Given the description of an element on the screen output the (x, y) to click on. 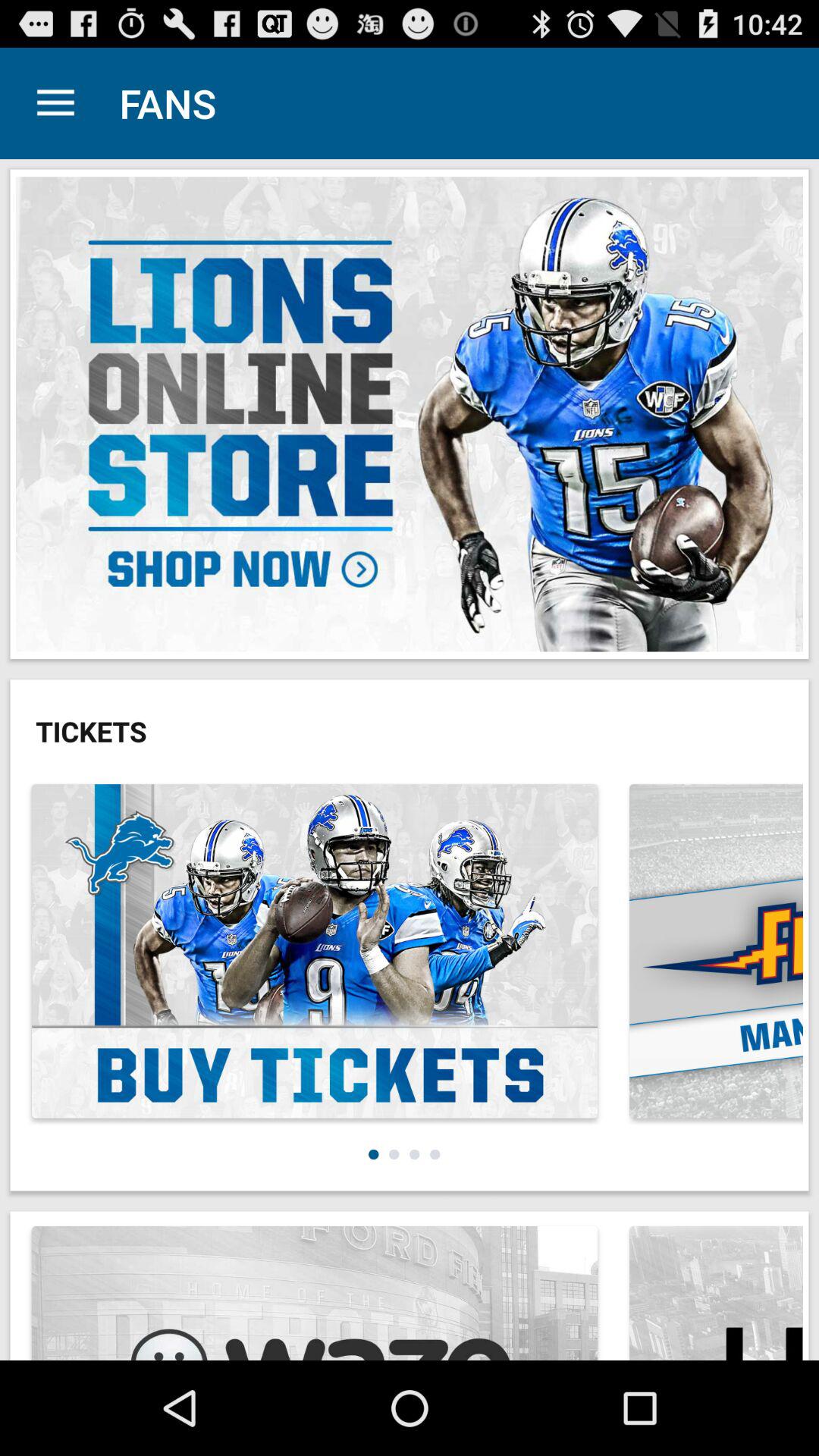
select app to the left of the fans item (55, 103)
